Given the description of an element on the screen output the (x, y) to click on. 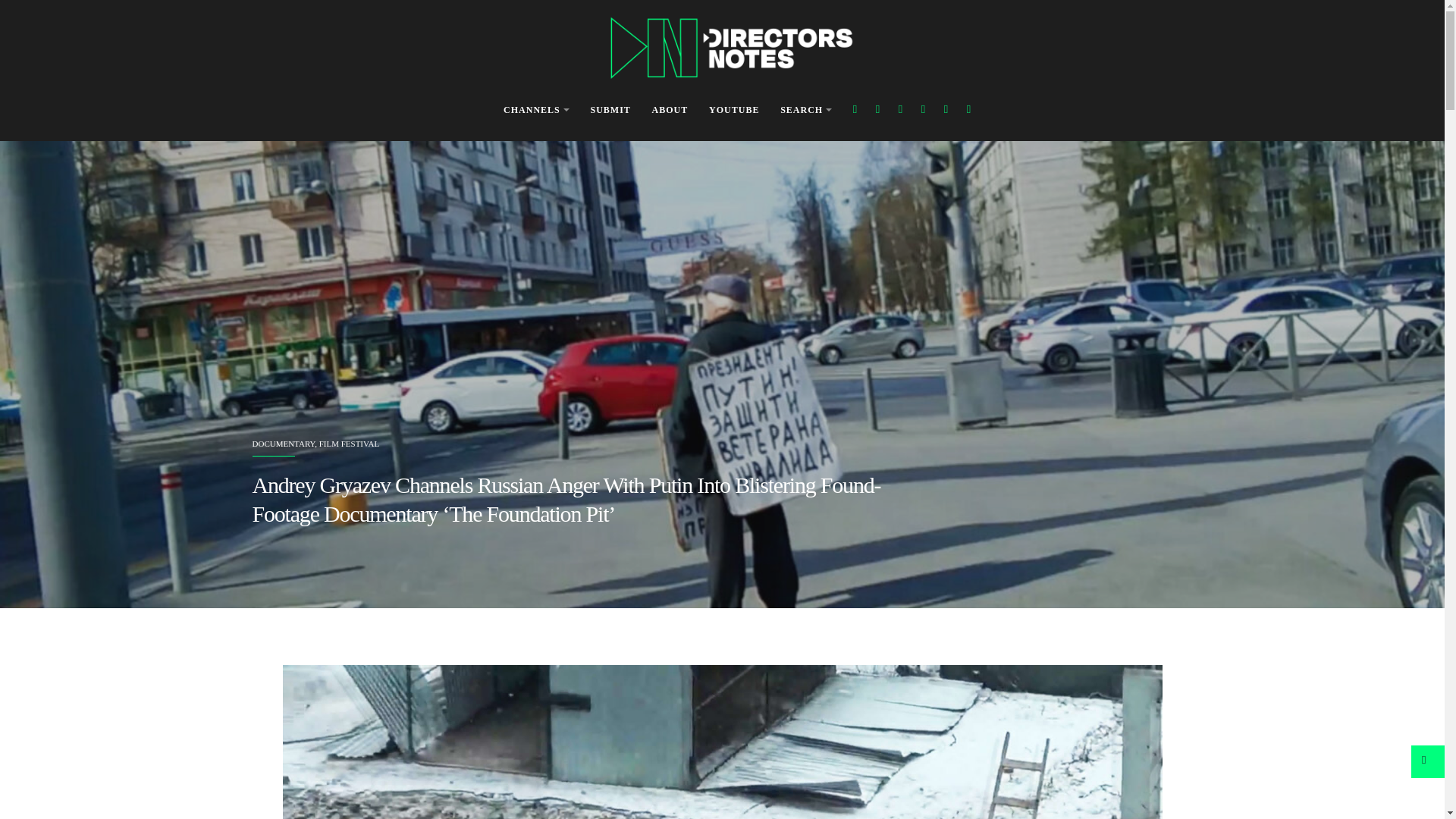
ABOUT (670, 110)
Instagram (900, 110)
Twitter (877, 110)
FILM FESTIVAL (349, 442)
You Tube (923, 110)
CHANNELS (536, 110)
Facebook (855, 110)
DOCUMENTARY (282, 442)
YOUTUBE (733, 110)
SEARCH (805, 110)
